Given the description of an element on the screen output the (x, y) to click on. 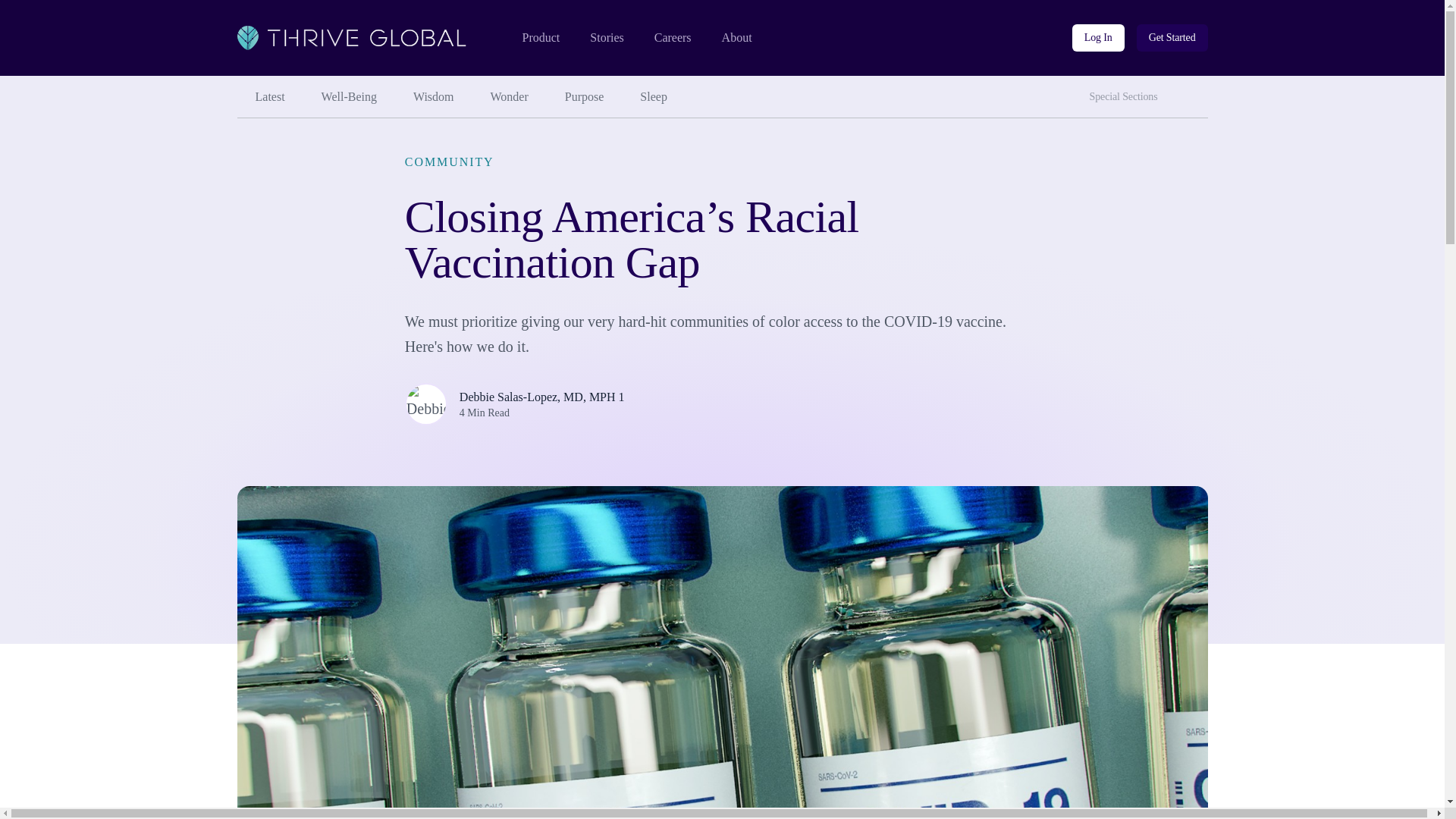
Stories (606, 37)
Search site (1193, 91)
Well-Being (348, 96)
Special Sections (1126, 97)
Wisdom (432, 96)
Latest (268, 96)
Get Started (1172, 37)
About (737, 37)
Product (540, 37)
Purpose (585, 96)
Careers (672, 37)
Wonder (509, 96)
Log In (1097, 37)
Sleep (653, 96)
